Given the description of an element on the screen output the (x, y) to click on. 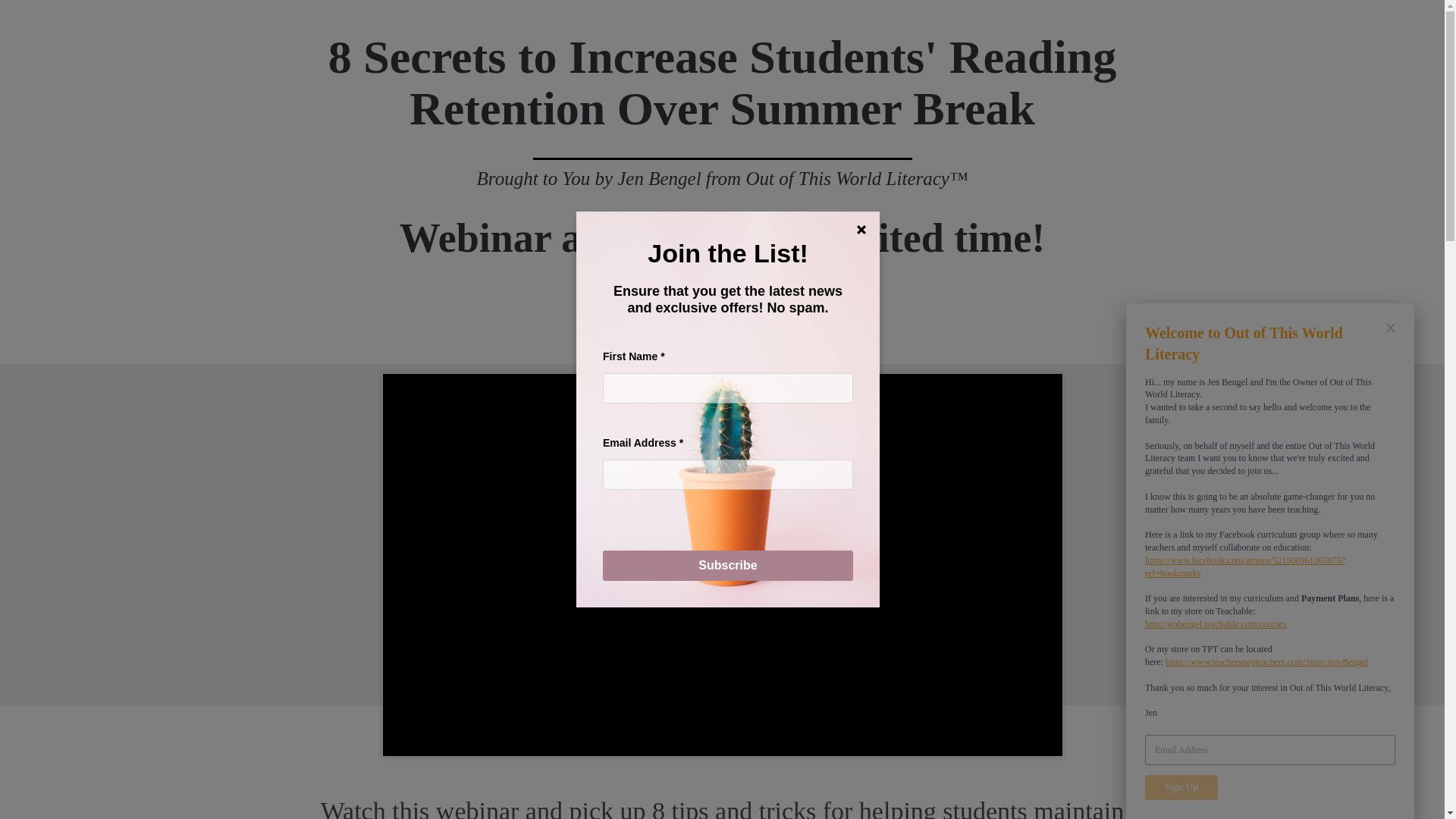
Subscribe (727, 565)
Sign Up (1180, 787)
Sign Up (1180, 787)
Close (861, 229)
